Given the description of an element on the screen output the (x, y) to click on. 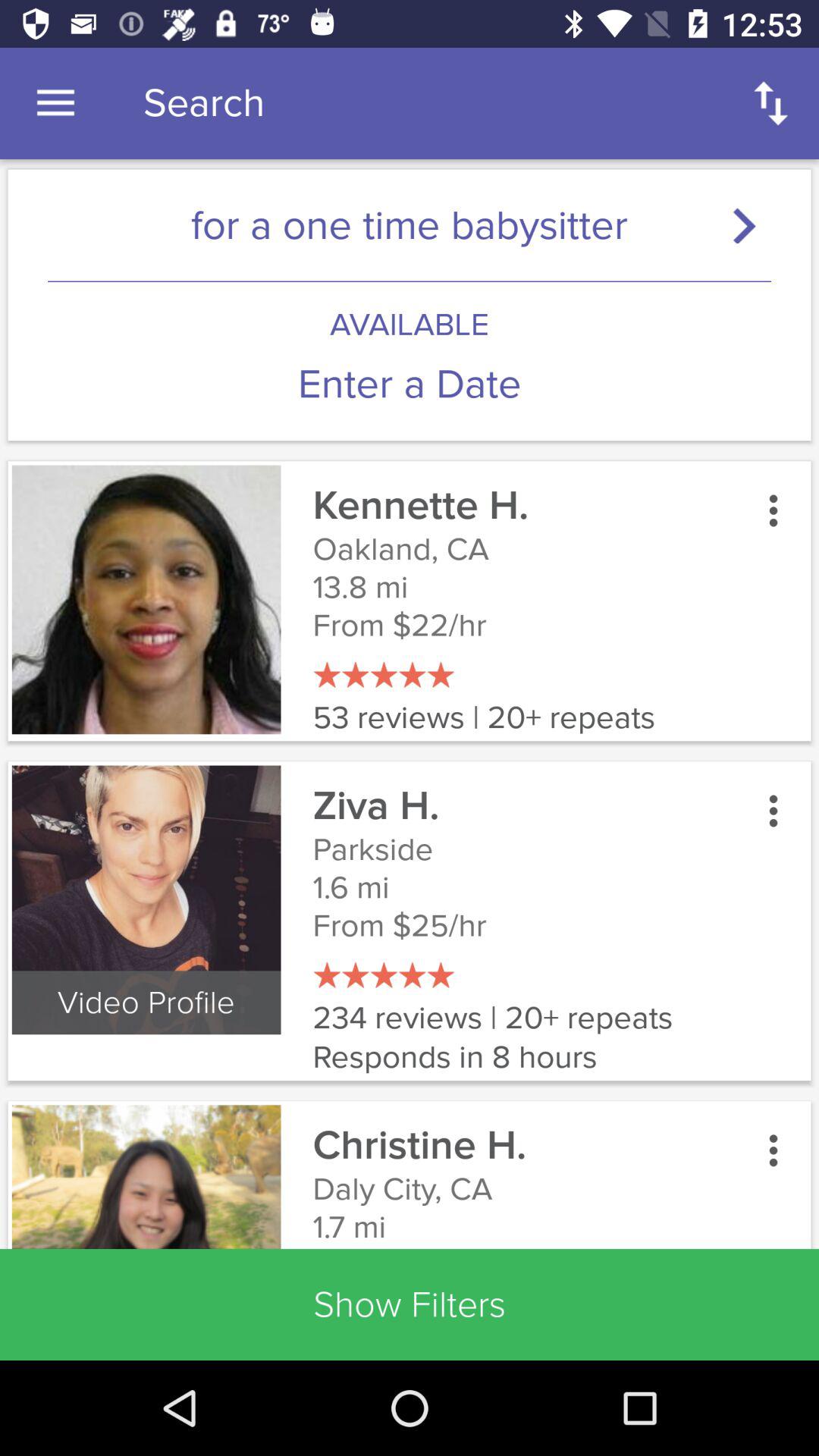
jump to enter a date icon (409, 384)
